Given the description of an element on the screen output the (x, y) to click on. 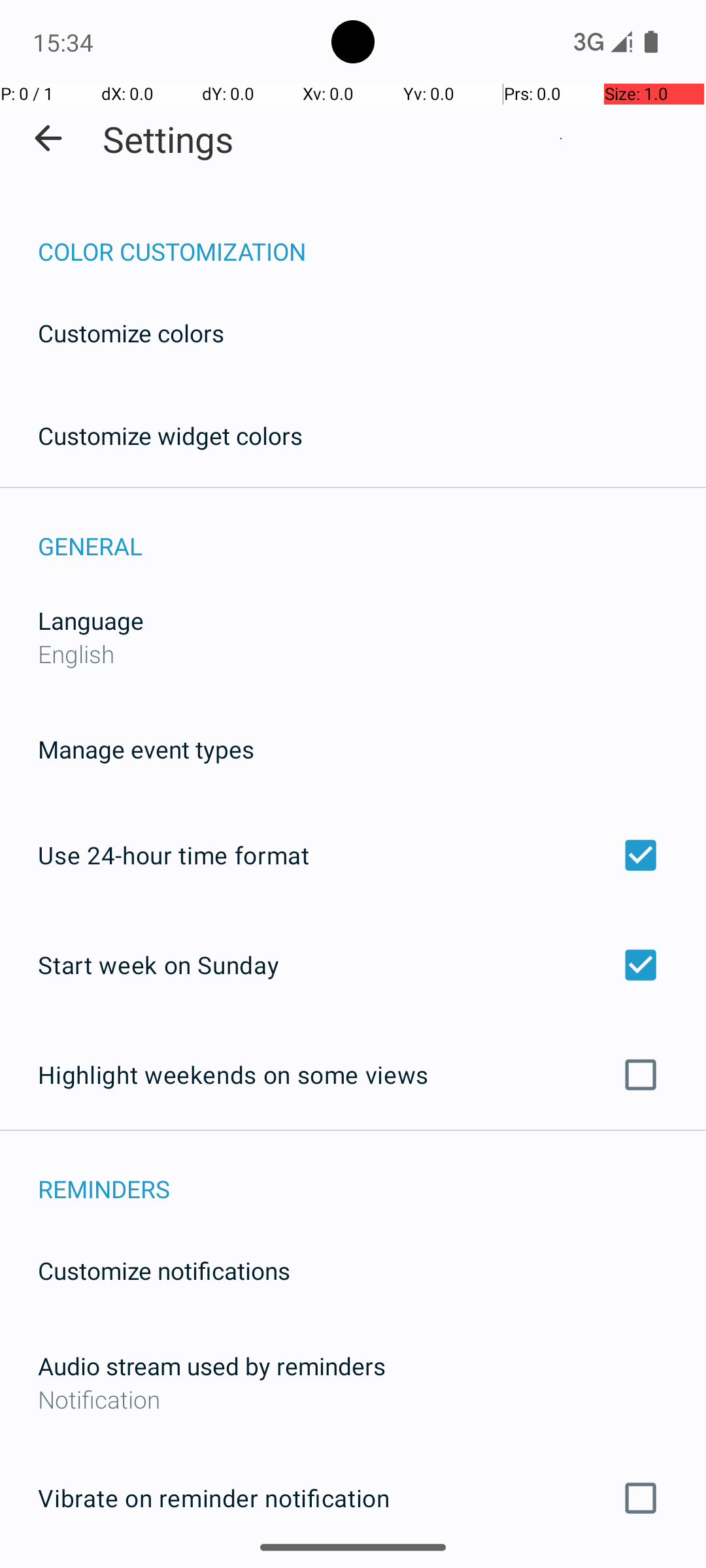
COLOR CUSTOMIZATION Element type: android.widget.TextView (371, 237)
REMINDERS Element type: android.widget.TextView (371, 1174)
Customize colors Element type: android.widget.TextView (130, 332)
Customize widget colors Element type: android.widget.TextView (170, 435)
English Element type: android.widget.TextView (75, 653)
Manage event types Element type: android.widget.TextView (145, 748)
Use 24-hour time format Element type: android.widget.CheckBox (352, 855)
Start week on Sunday Element type: android.widget.CheckBox (352, 964)
Highlight weekends on some views Element type: android.widget.CheckBox (352, 1074)
Customize notifications Element type: android.widget.TextView (163, 1270)
Audio stream used by reminders Element type: android.widget.TextView (211, 1365)
Notification Element type: android.widget.TextView (352, 1398)
Vibrate on reminder notification Element type: android.widget.CheckBox (352, 1497)
Loop reminders until dismissed Element type: android.widget.CheckBox (352, 1567)
